Given the description of an element on the screen output the (x, y) to click on. 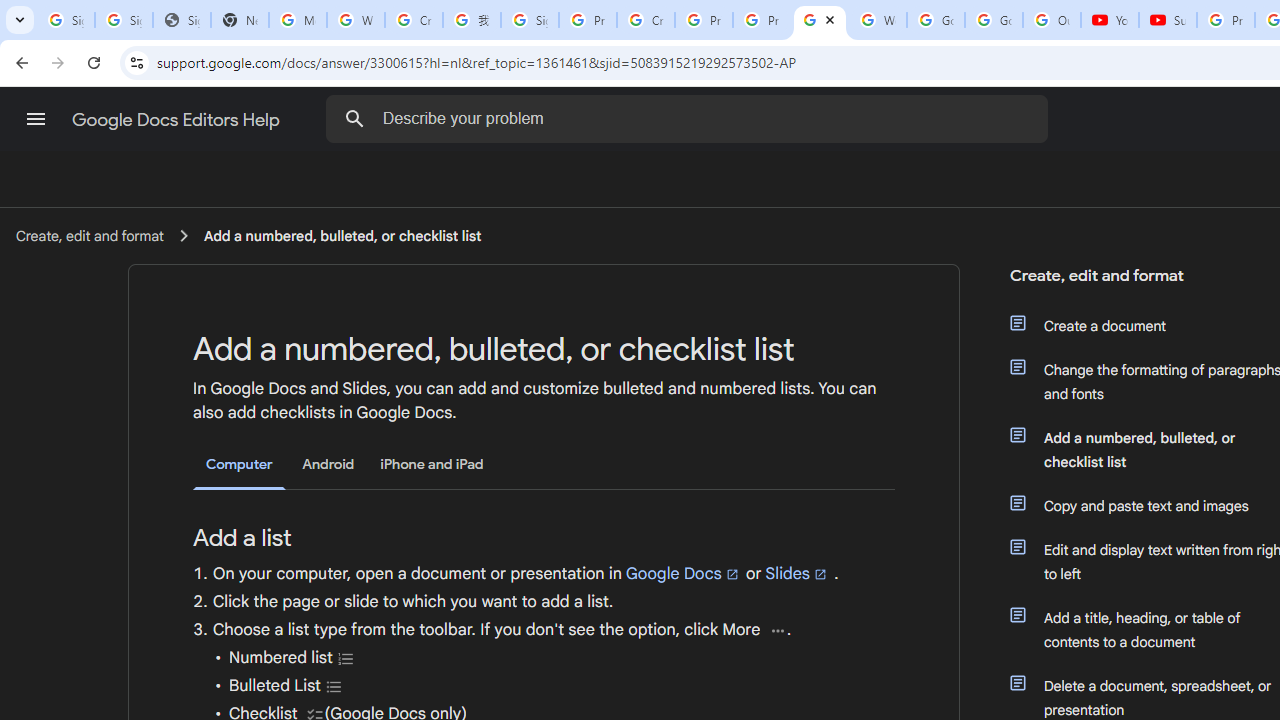
Main menu (35, 119)
Welcome to My Activity (877, 20)
Android (328, 464)
Google Account (993, 20)
More (777, 630)
Subscriptions - YouTube (1167, 20)
Who is my administrator? - Google Account Help (355, 20)
Search the Help Center (354, 118)
